Given the description of an element on the screen output the (x, y) to click on. 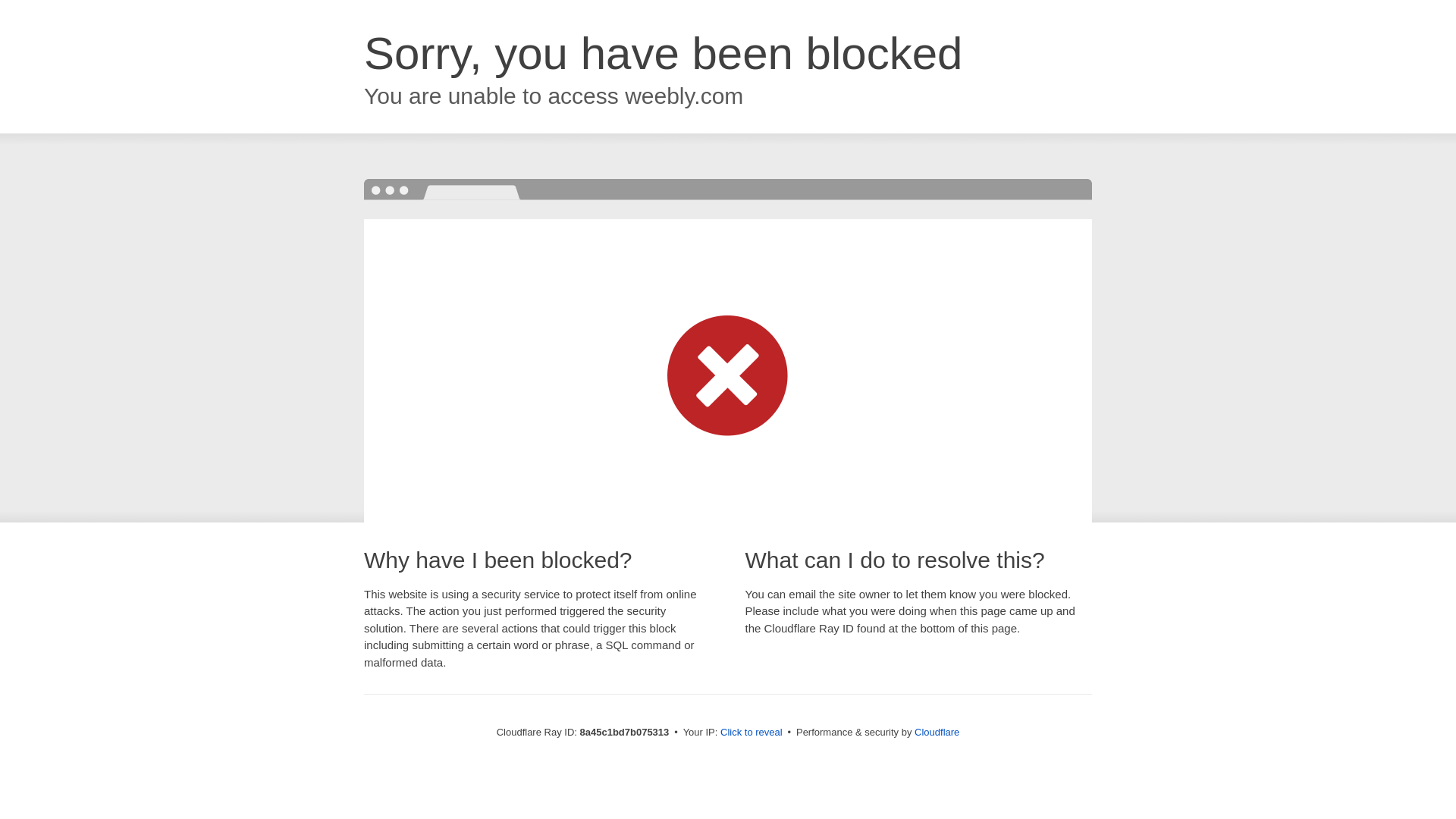
Cloudflare (936, 731)
Click to reveal (751, 732)
